Given the description of an element on the screen output the (x, y) to click on. 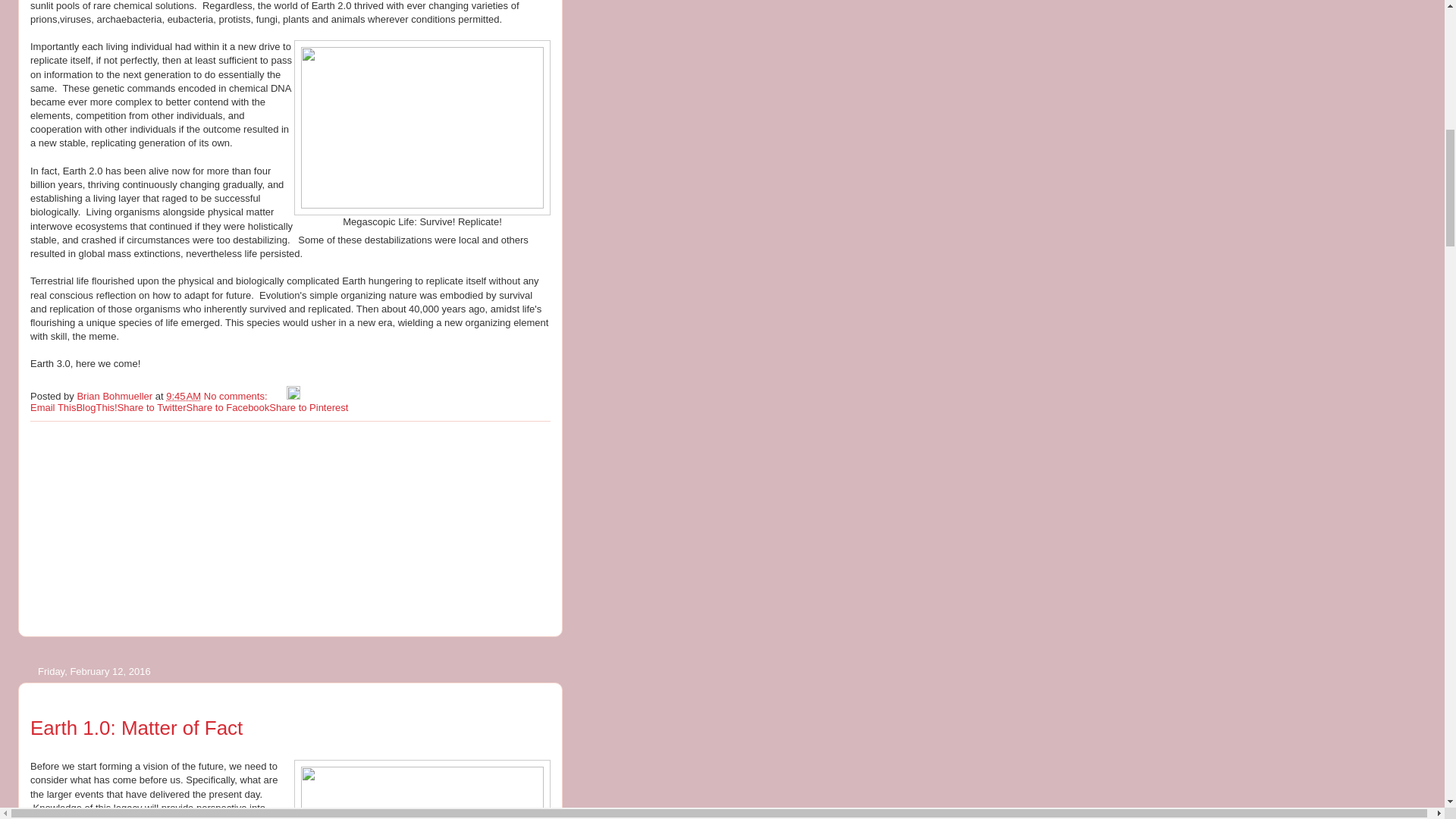
Email This (52, 407)
BlogThis! (95, 407)
Brian Bohmueller (115, 396)
Share to Facebook (227, 407)
Share to Pinterest (308, 407)
Earth 1.0: Matter of Fact (136, 727)
Advertisement (143, 527)
No comments: (236, 396)
Email Post (277, 396)
author profile (115, 396)
Edit Post (292, 396)
Share to Twitter (151, 407)
Email This (52, 407)
Share to Twitter (151, 407)
